Given the description of an element on the screen output the (x, y) to click on. 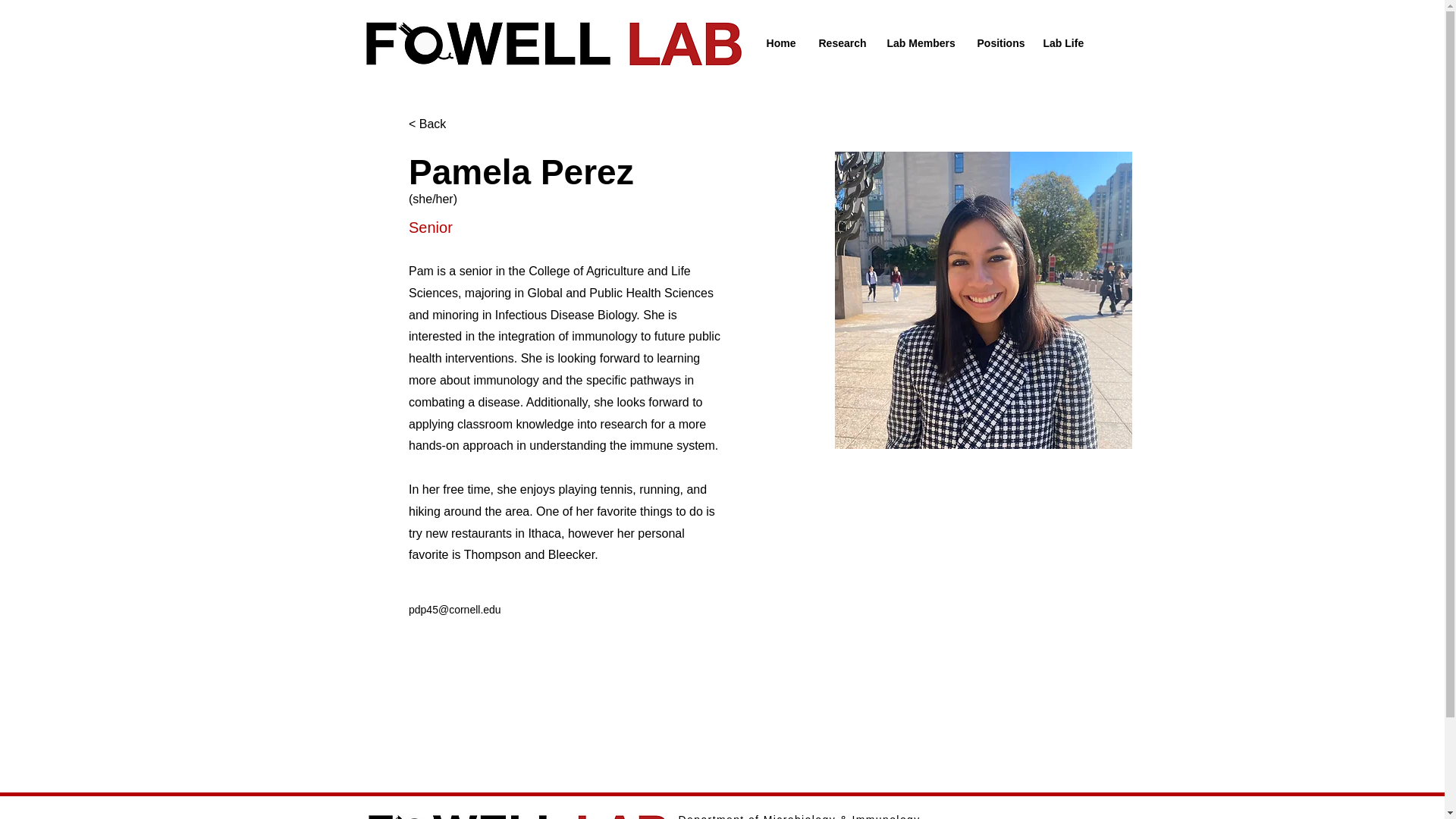
Lab Life (1061, 43)
Home (781, 43)
Positions (999, 43)
Lab Members (920, 43)
Screen Shot 2021-08-10 at 12.18.25 PM.png (518, 814)
Research (840, 43)
